Given the description of an element on the screen output the (x, y) to click on. 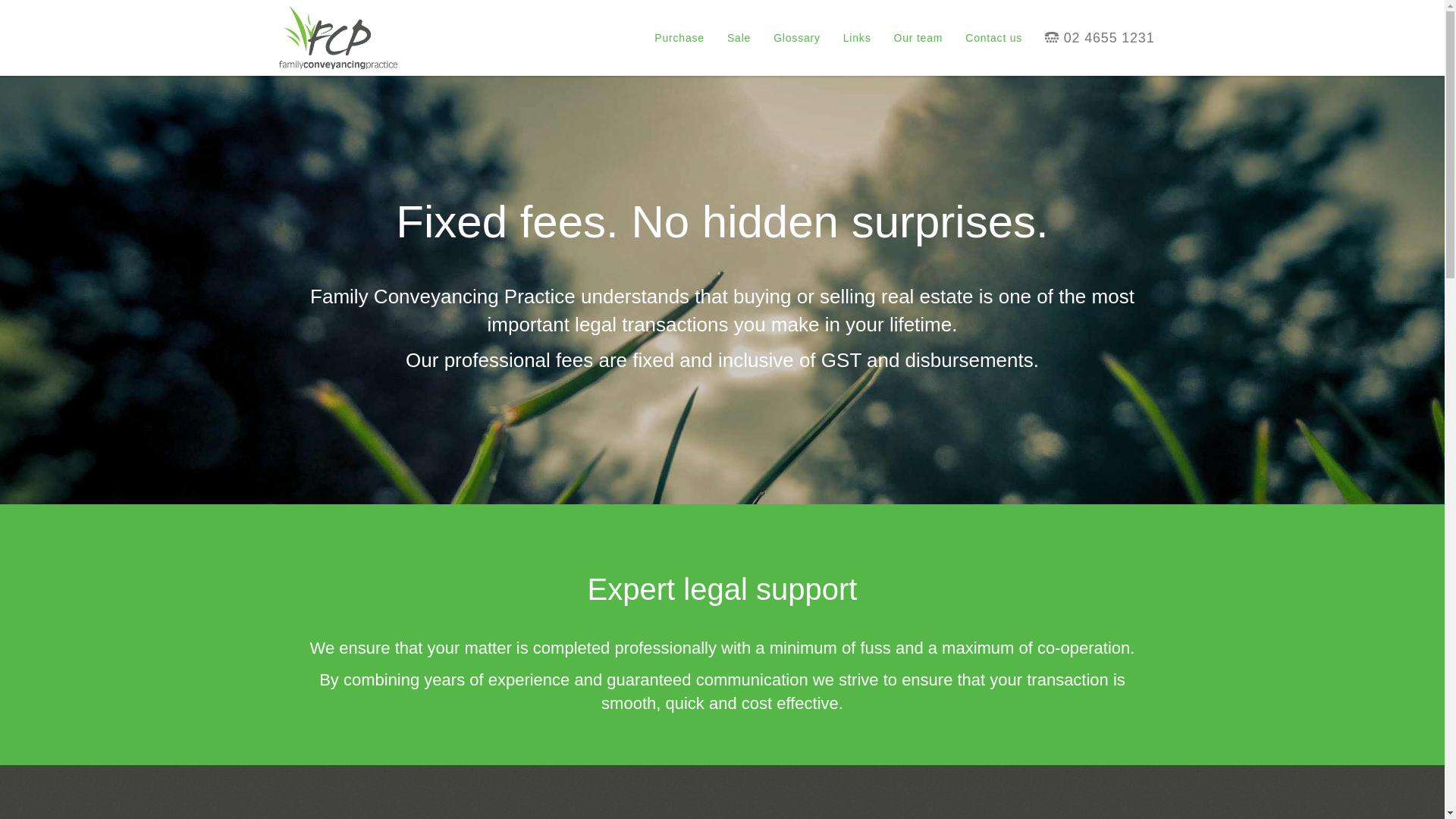
Glossary Element type: text (796, 37)
Links Element type: text (856, 37)
Contact us Element type: text (993, 37)
02 4655 1231 Element type: text (1099, 37)
Our team Element type: text (917, 37)
Sale Element type: text (738, 37)
Purchase Element type: text (679, 37)
